Given the description of an element on the screen output the (x, y) to click on. 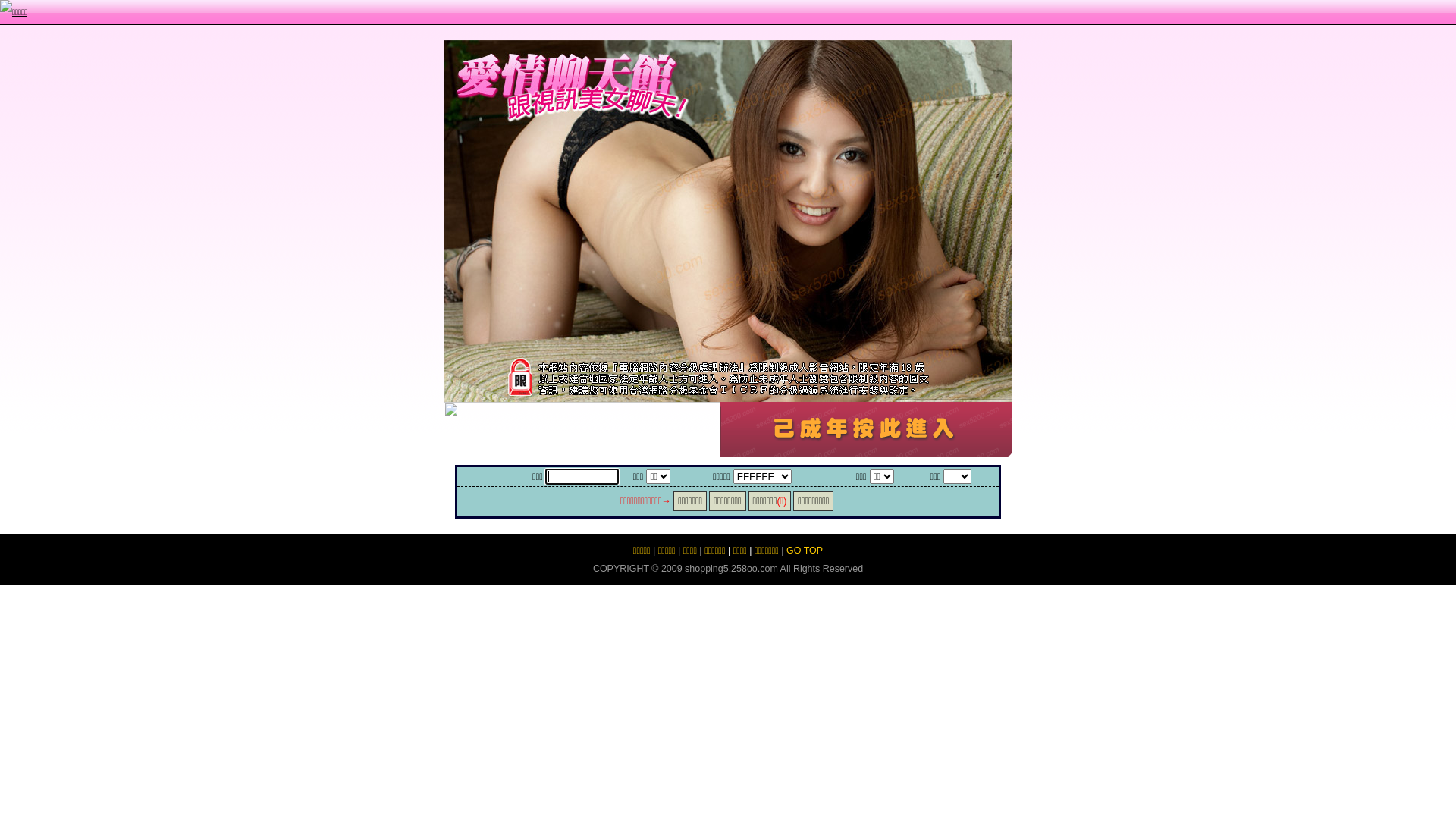
GO TOP Element type: text (804, 550)
shopping5.258oo.com Element type: text (731, 568)
